Given the description of an element on the screen output the (x, y) to click on. 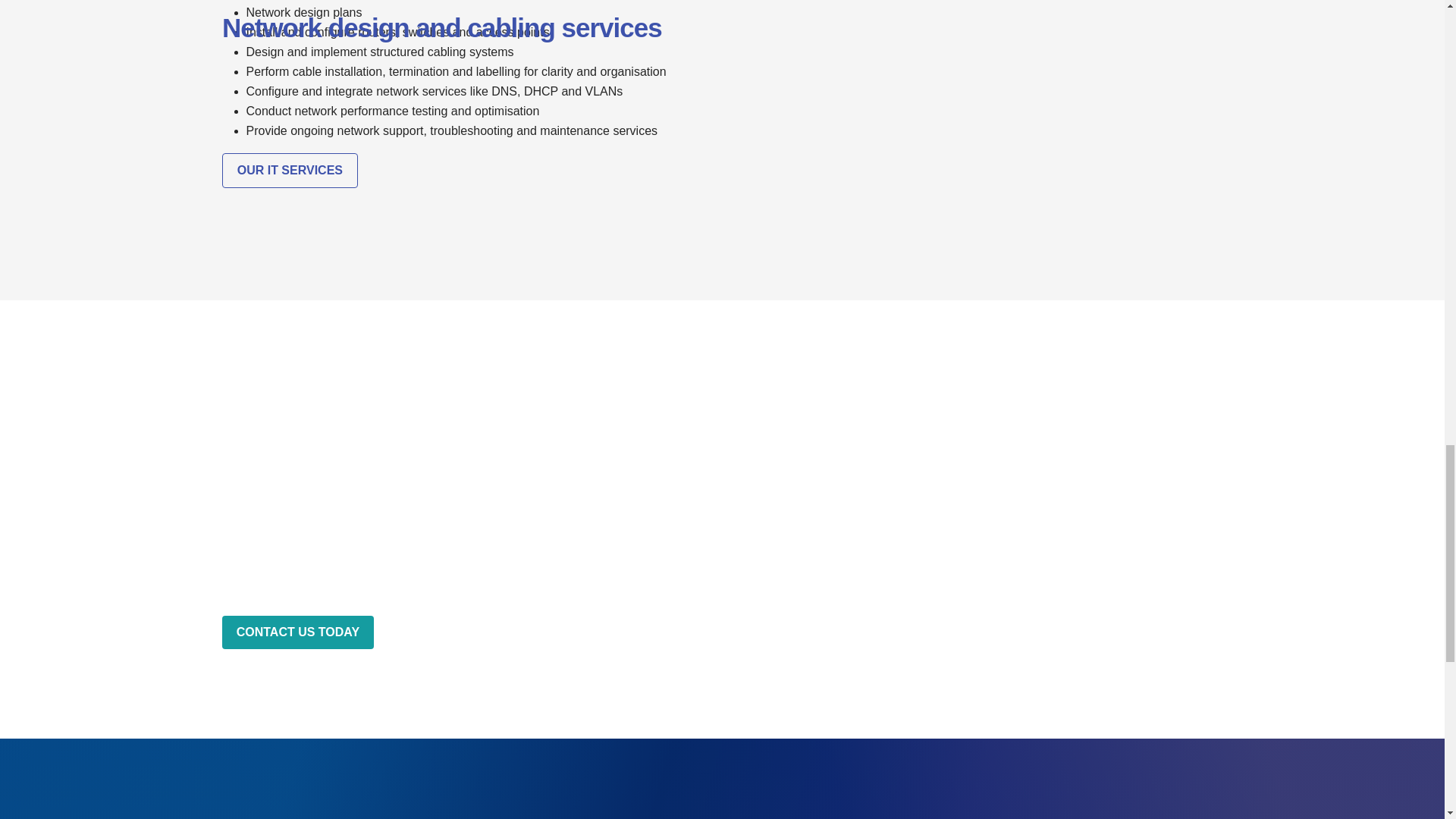
OUR IT SERVICES (289, 171)
CONTACT US TODAY (297, 632)
